Given the description of an element on the screen output the (x, y) to click on. 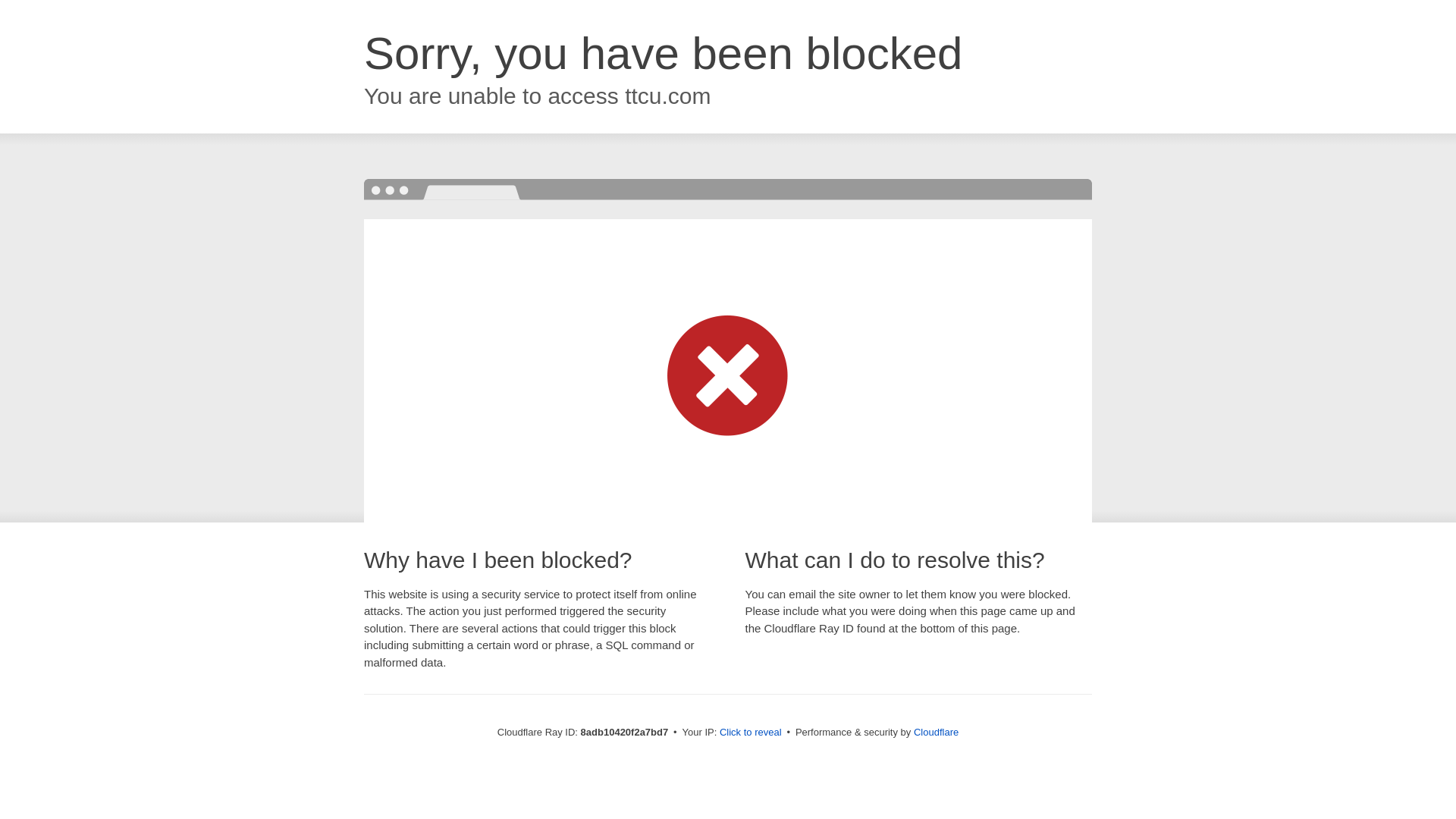
Click to reveal (750, 732)
Cloudflare (936, 731)
